Given the description of an element on the screen output the (x, y) to click on. 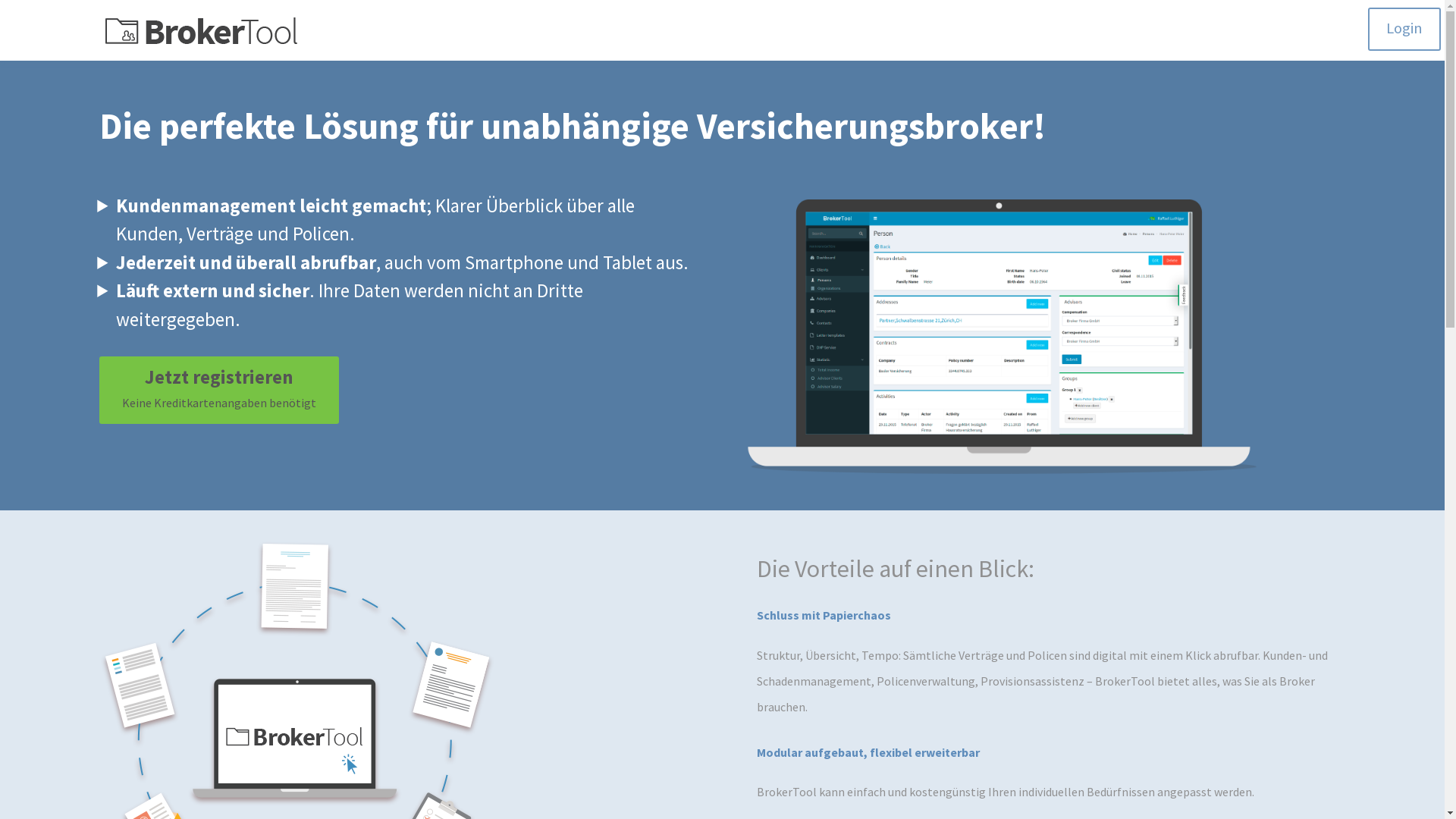
Login Element type: text (1404, 29)
